Given the description of an element on the screen output the (x, y) to click on. 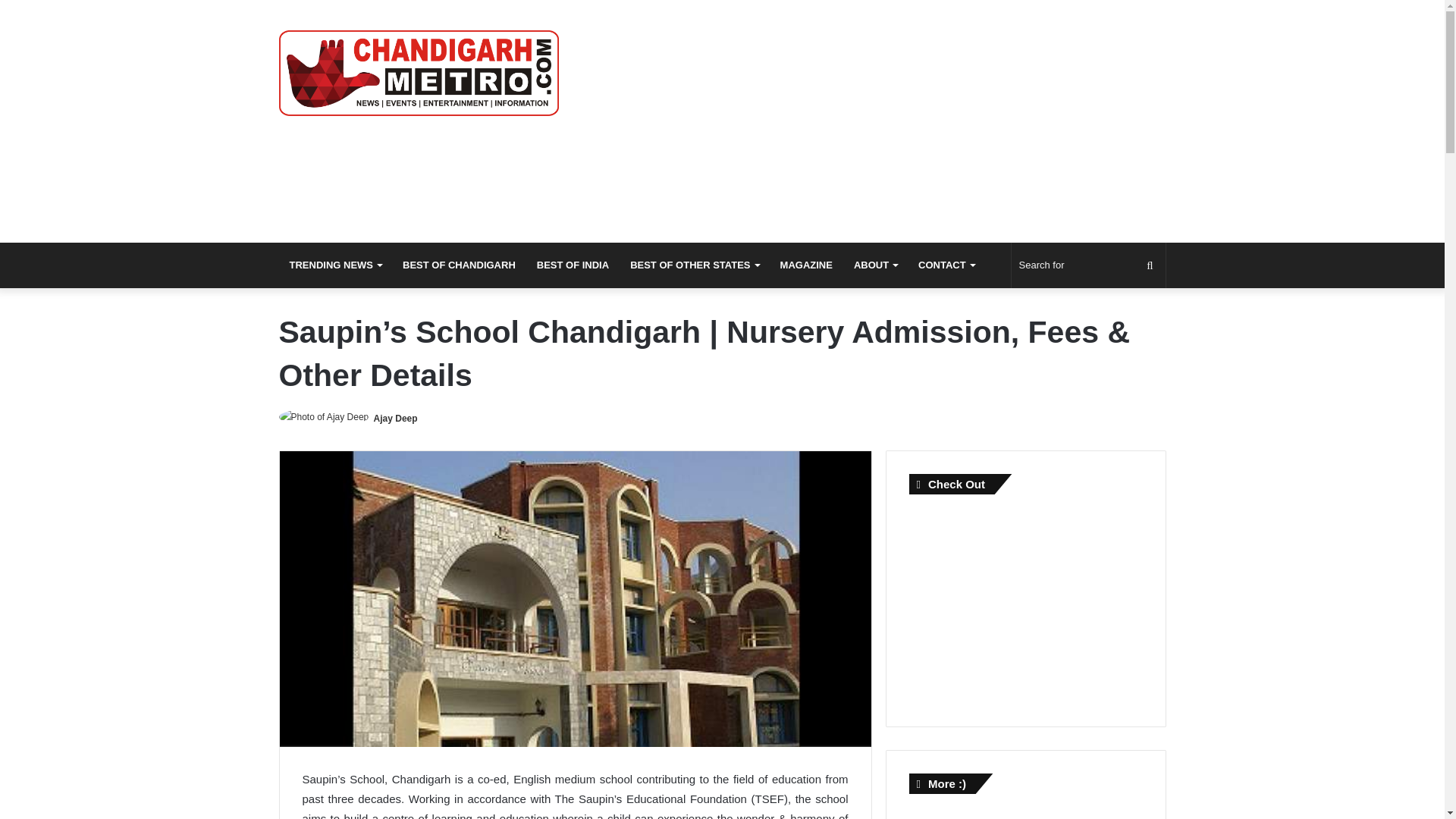
CONTACT (946, 265)
Advertisement (1022, 604)
Ajay Deep (395, 418)
ABOUT (875, 265)
Ajay Deep (395, 418)
Advertisement (1022, 814)
MAGAZINE (806, 265)
BEST OF CHANDIGARH (458, 265)
BEST OF OTHER STATES (694, 265)
Chandigarh Metro (419, 73)
Advertisement (874, 121)
TRENDING NEWS (336, 265)
Search for (1088, 265)
BEST OF INDIA (572, 265)
